Given the description of an element on the screen output the (x, y) to click on. 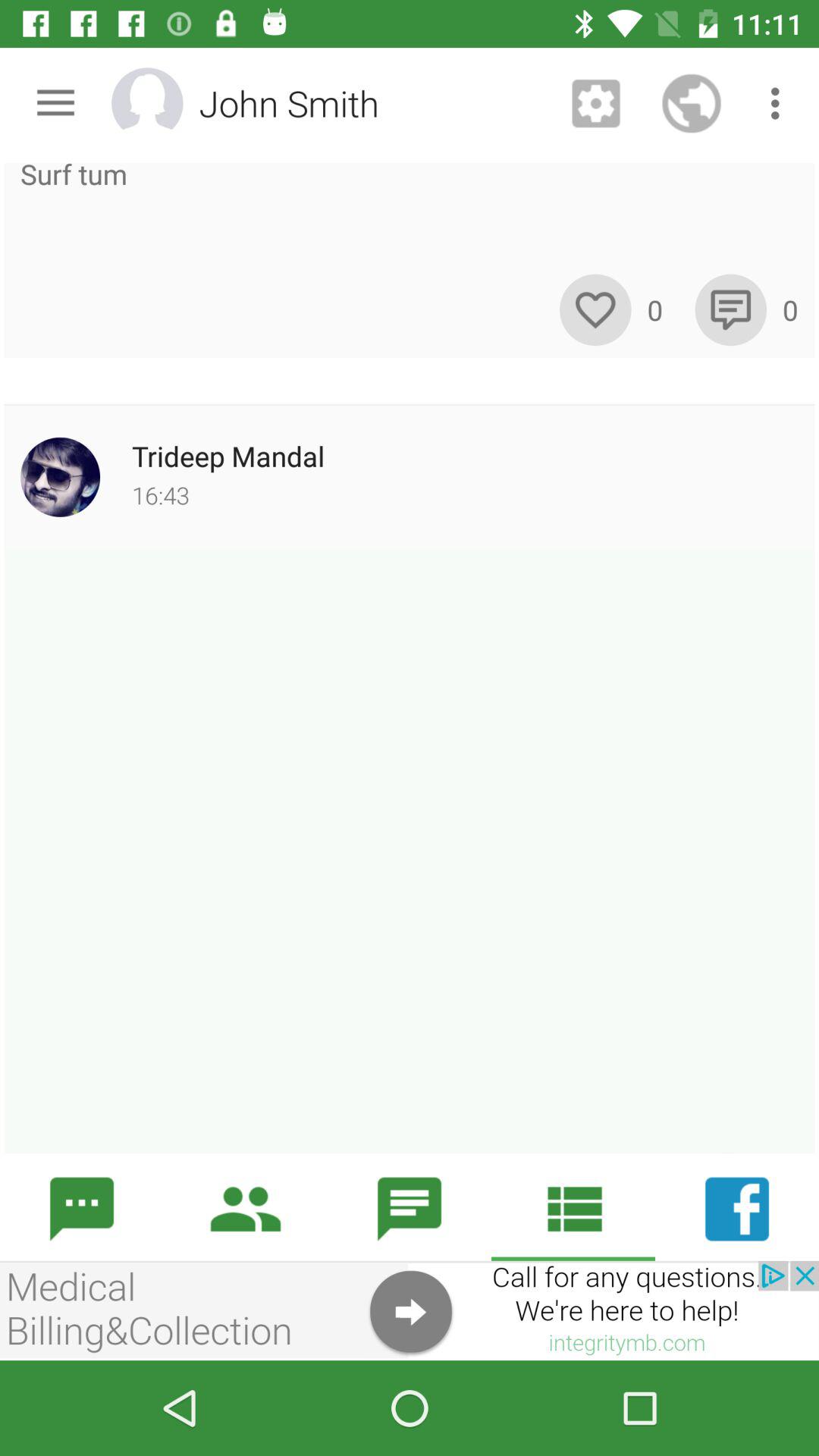
make a comment (730, 309)
